Given the description of an element on the screen output the (x, y) to click on. 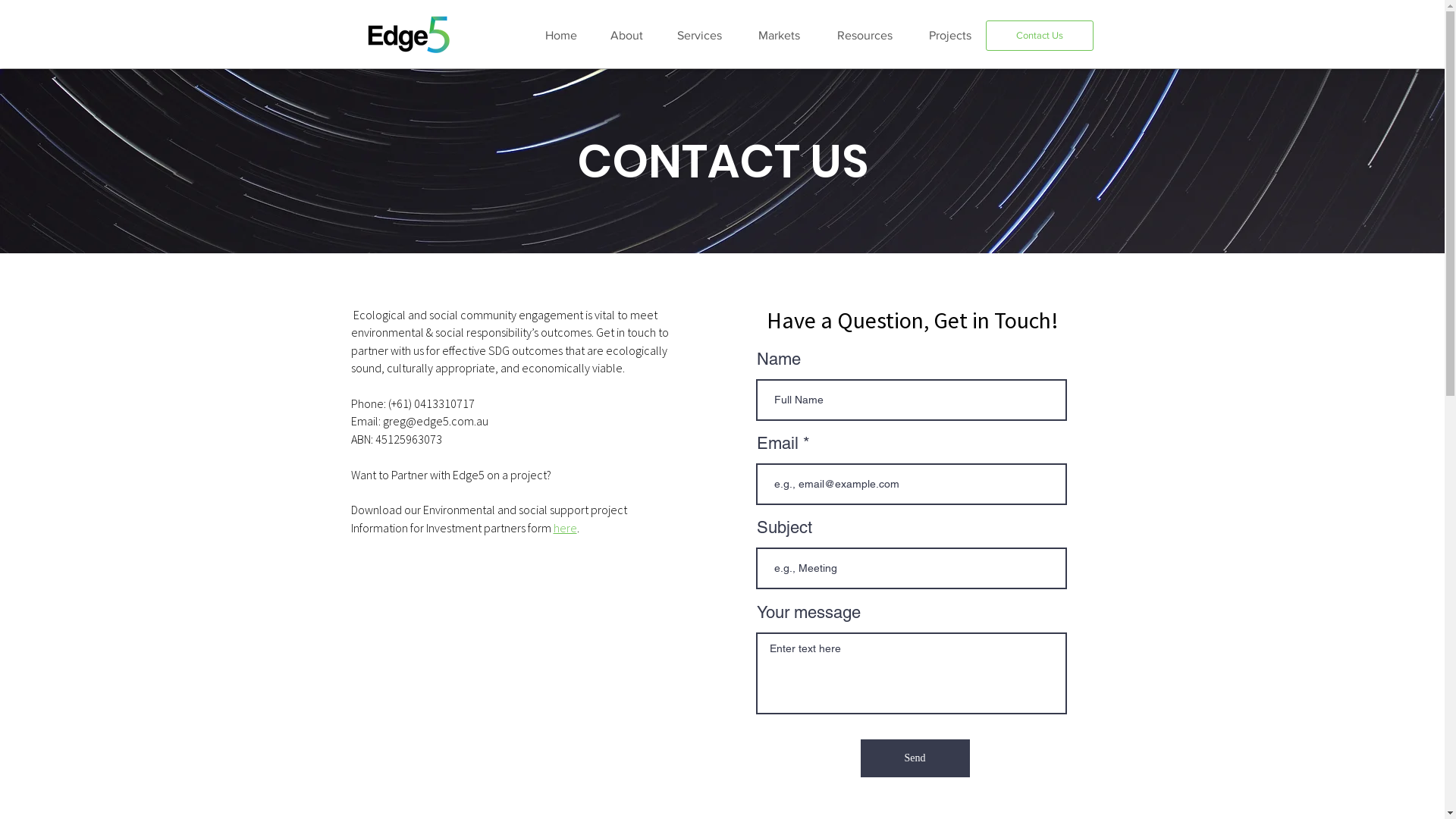
greg@edge5.com.au Element type: text (434, 420)
Contact Us Element type: text (1039, 35)
Projects Element type: text (950, 35)
Edge5 LOGOS (3) full white_edited.png Element type: hover (412, 34)
Send Element type: text (914, 758)
About Element type: text (626, 35)
here Element type: text (565, 527)
Home Element type: text (560, 35)
